Given the description of an element on the screen output the (x, y) to click on. 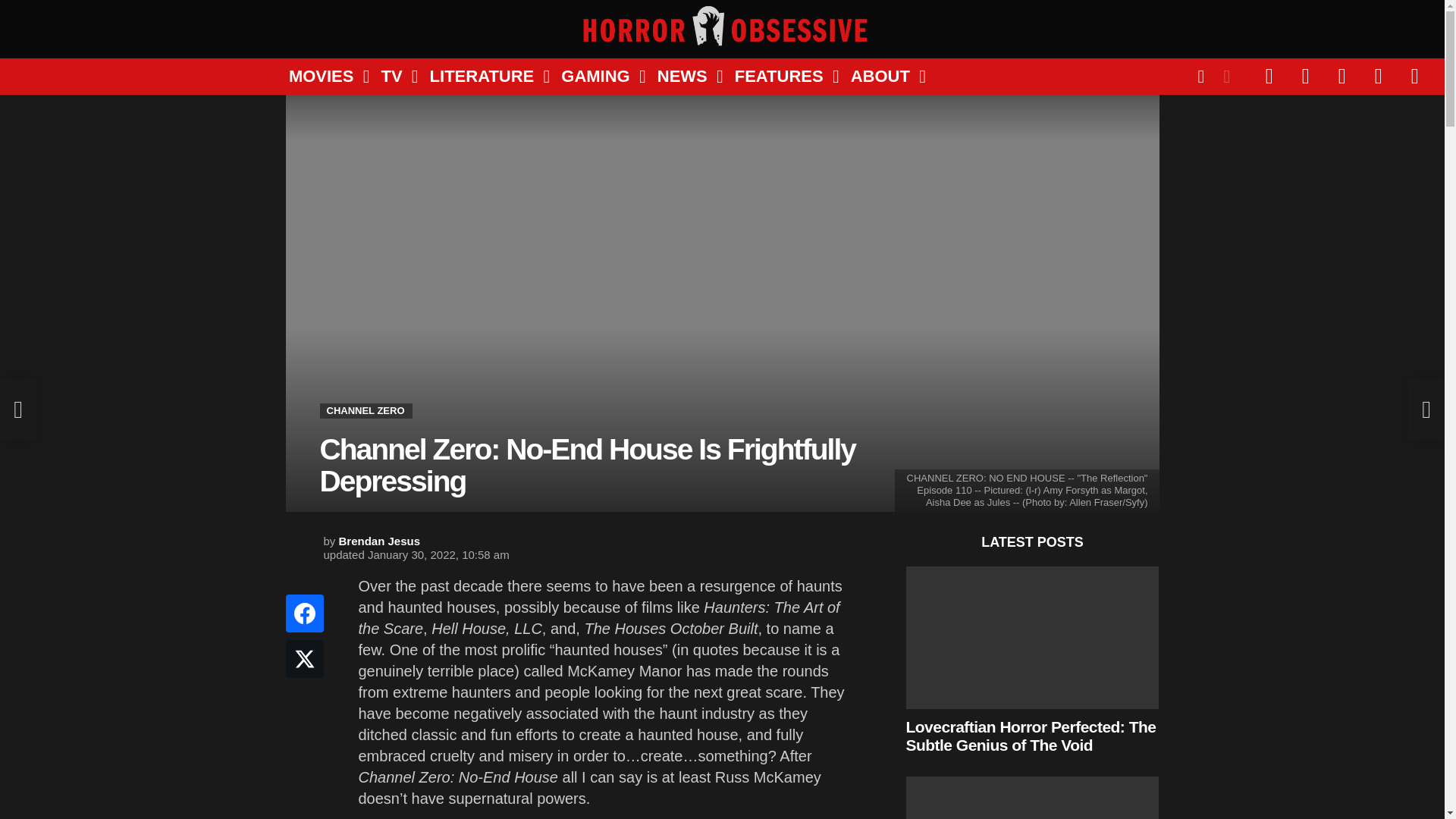
MOVIES (323, 76)
Share on Facebook (304, 613)
Posts by Brendan Jesus (379, 540)
Lovecraftian Horror Perfected: The Subtle Genius of The Void (1031, 637)
Share on Twitter (304, 658)
TV (392, 76)
Carrie 1976 vs Carrie 2013: Which Film Reigns Supreme? (1031, 797)
